Given the description of an element on the screen output the (x, y) to click on. 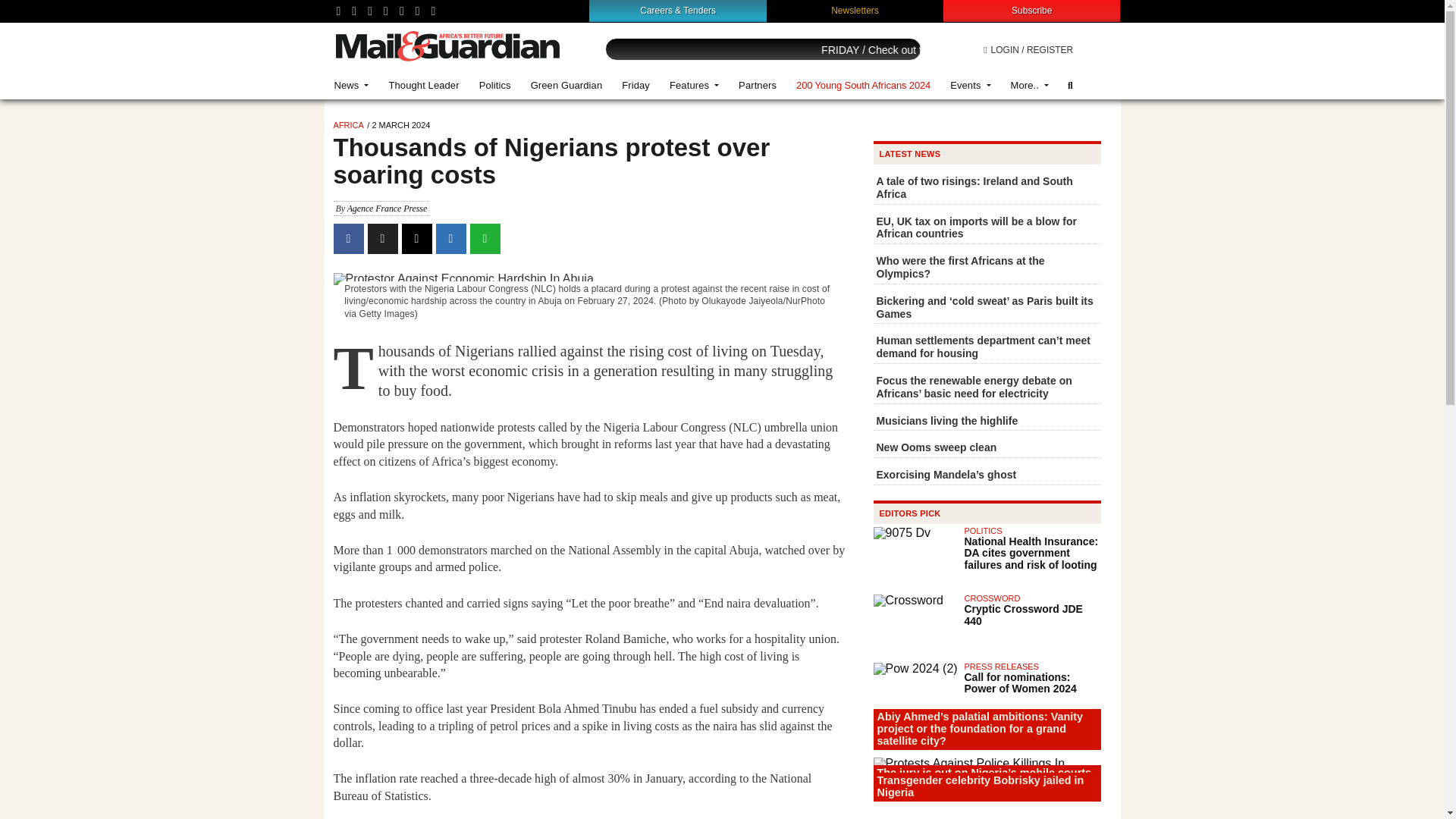
Friday (635, 85)
Politics (494, 85)
News (351, 85)
Newsletters (855, 9)
Subscribe (1031, 9)
Green Guardian (566, 85)
Features (694, 85)
Thought Leader (423, 85)
News (351, 85)
